Given the description of an element on the screen output the (x, y) to click on. 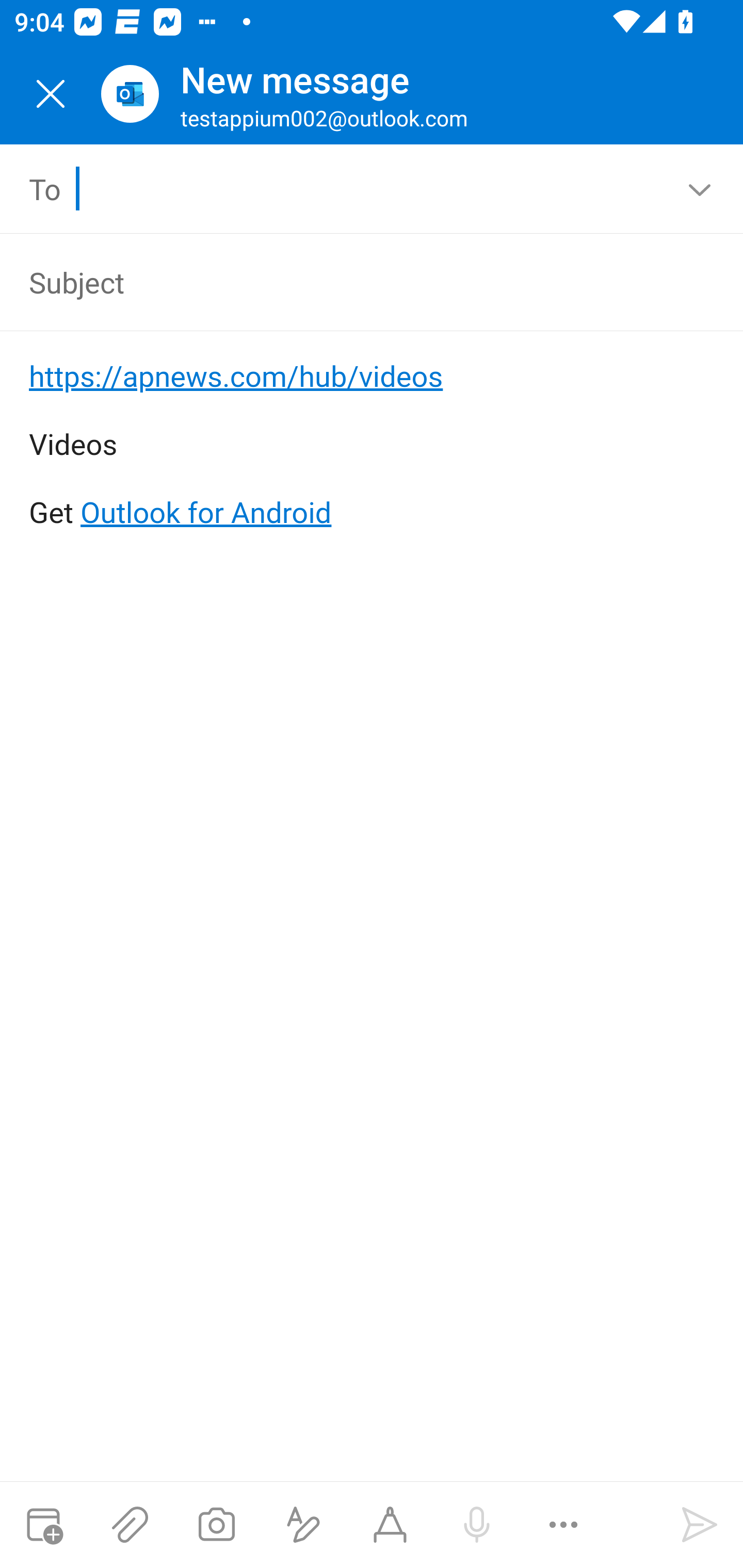
Close (50, 93)
Subject (342, 281)
Attach meeting (43, 1524)
Attach files (129, 1524)
Take a photo (216, 1524)
Show formatting options (303, 1524)
Start Ink compose (389, 1524)
More options (563, 1524)
Send (699, 1524)
